Given the description of an element on the screen output the (x, y) to click on. 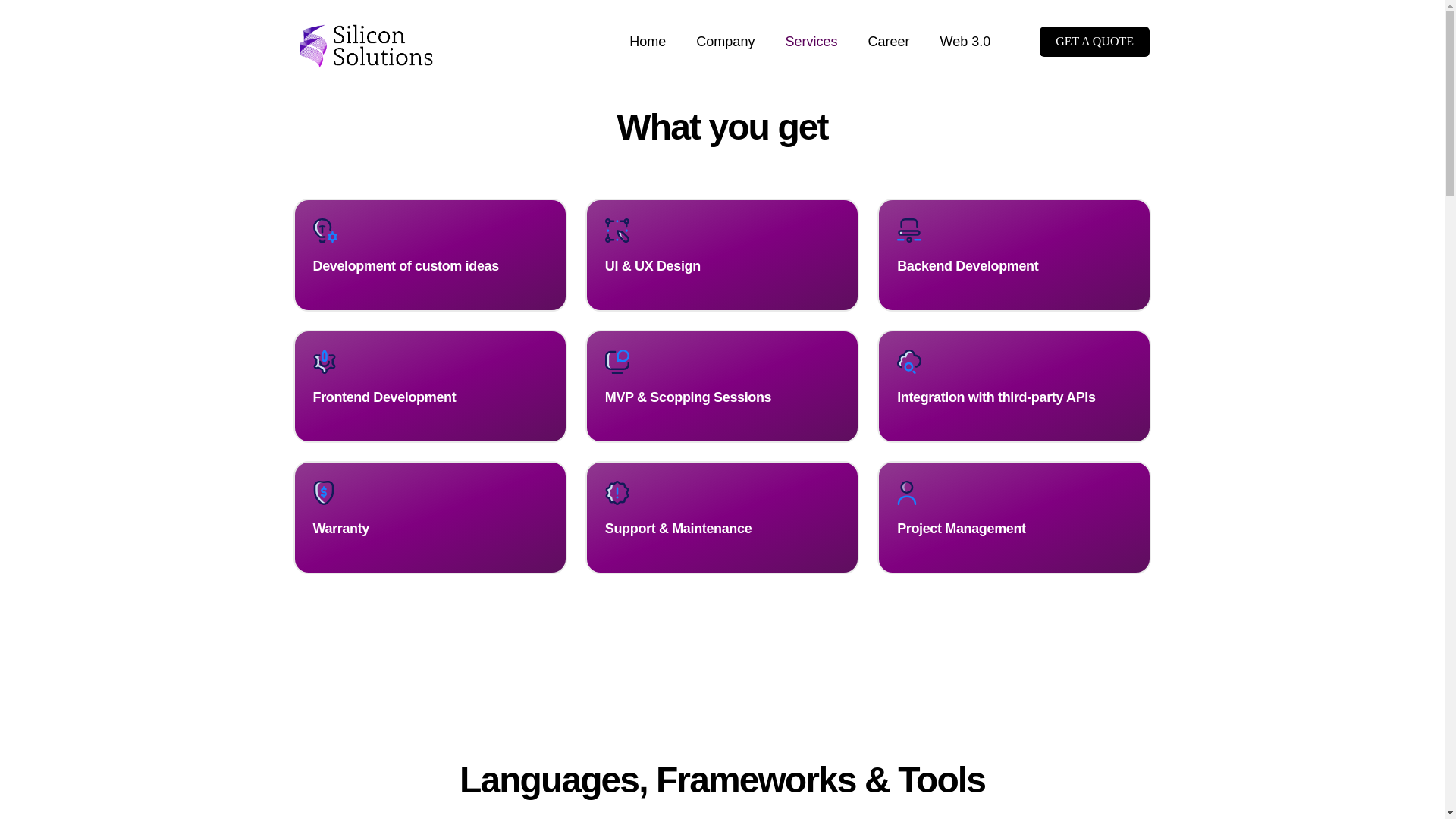
Web 3.0 (965, 41)
GET A QUOTE (1094, 41)
Silicon Solutions (367, 22)
Services (810, 41)
Company (725, 41)
